Given the description of an element on the screen output the (x, y) to click on. 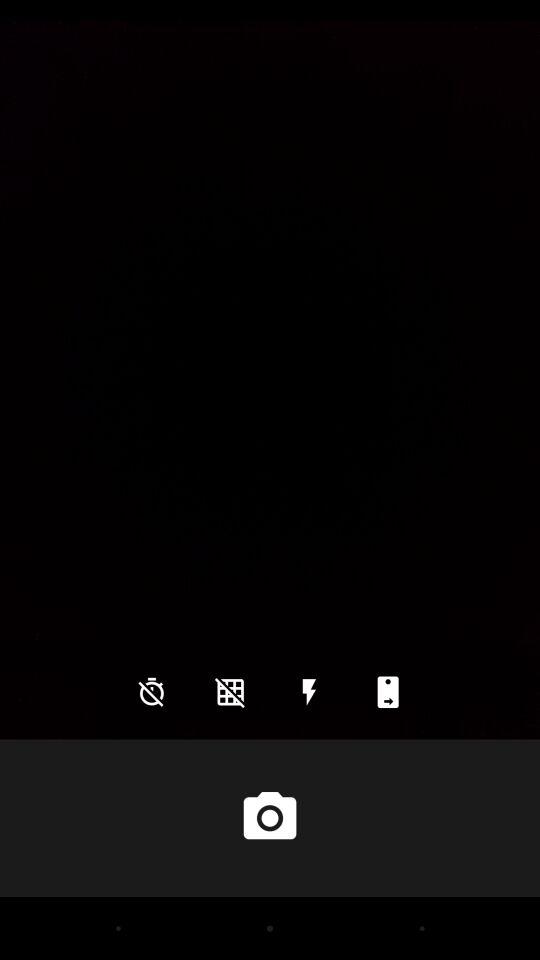
launch item at the bottom left corner (151, 691)
